Given the description of an element on the screen output the (x, y) to click on. 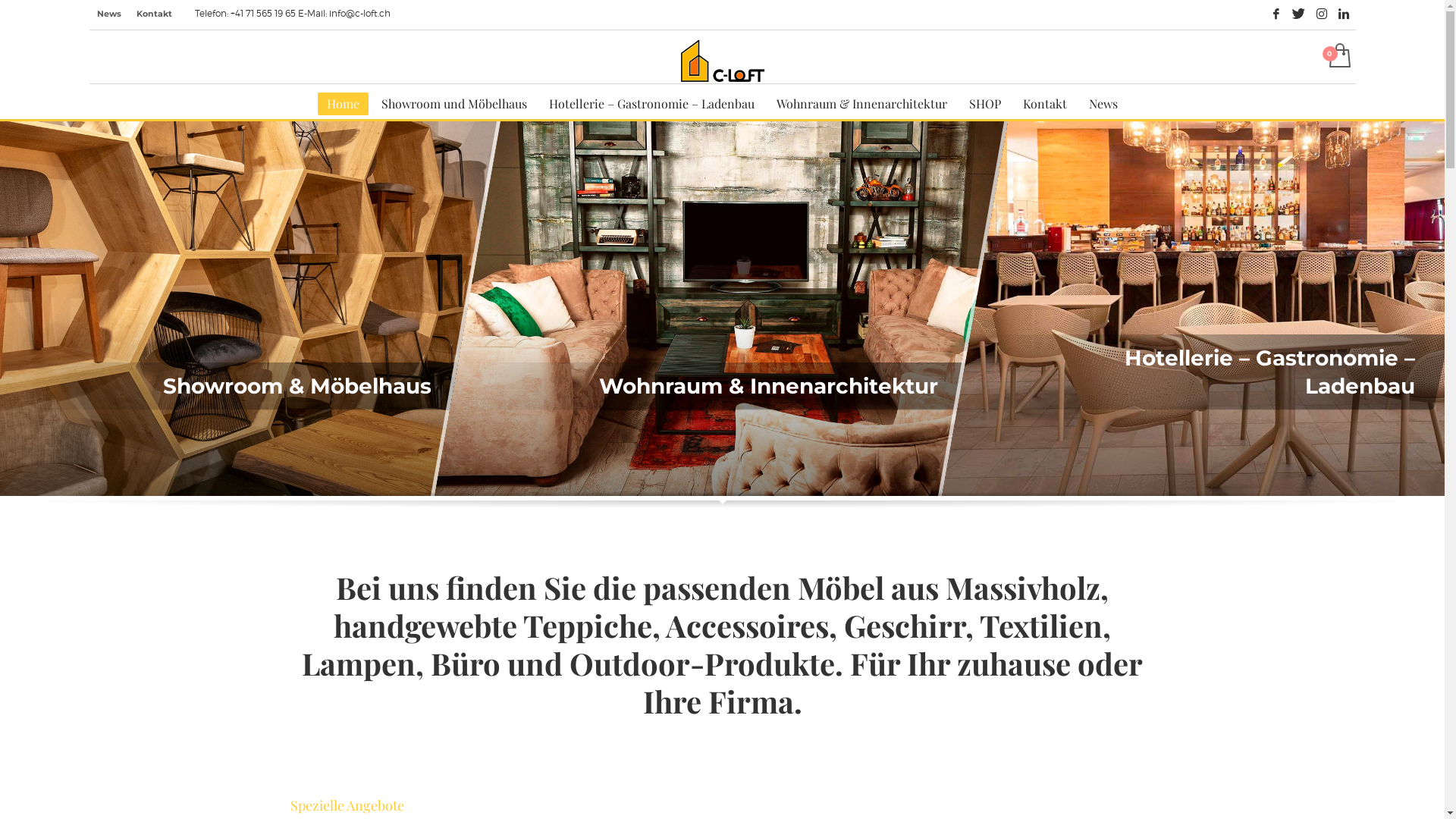
SHOP Element type: text (985, 103)
linkedin Element type: hover (1344, 13)
Instagram Element type: hover (1321, 13)
Auftragskonto ansehen Element type: hover (1338, 56)
Hotellerie_Gastronomie_Ladenbau_Wohnraum_Innenarchitektur Element type: hover (720, 310)
News Element type: text (1102, 103)
Kontakt Element type: text (1044, 103)
Wohnraum & Innenarchitektur Element type: text (702, 385)
Kontakt Element type: text (154, 13)
Home Element type: text (342, 103)
Wohnraum & Innenarchitektur Element type: text (861, 103)
Twitter Element type: hover (1298, 13)
Facebook Element type: hover (1275, 13)
News Element type: text (109, 13)
